Given the description of an element on the screen output the (x, y) to click on. 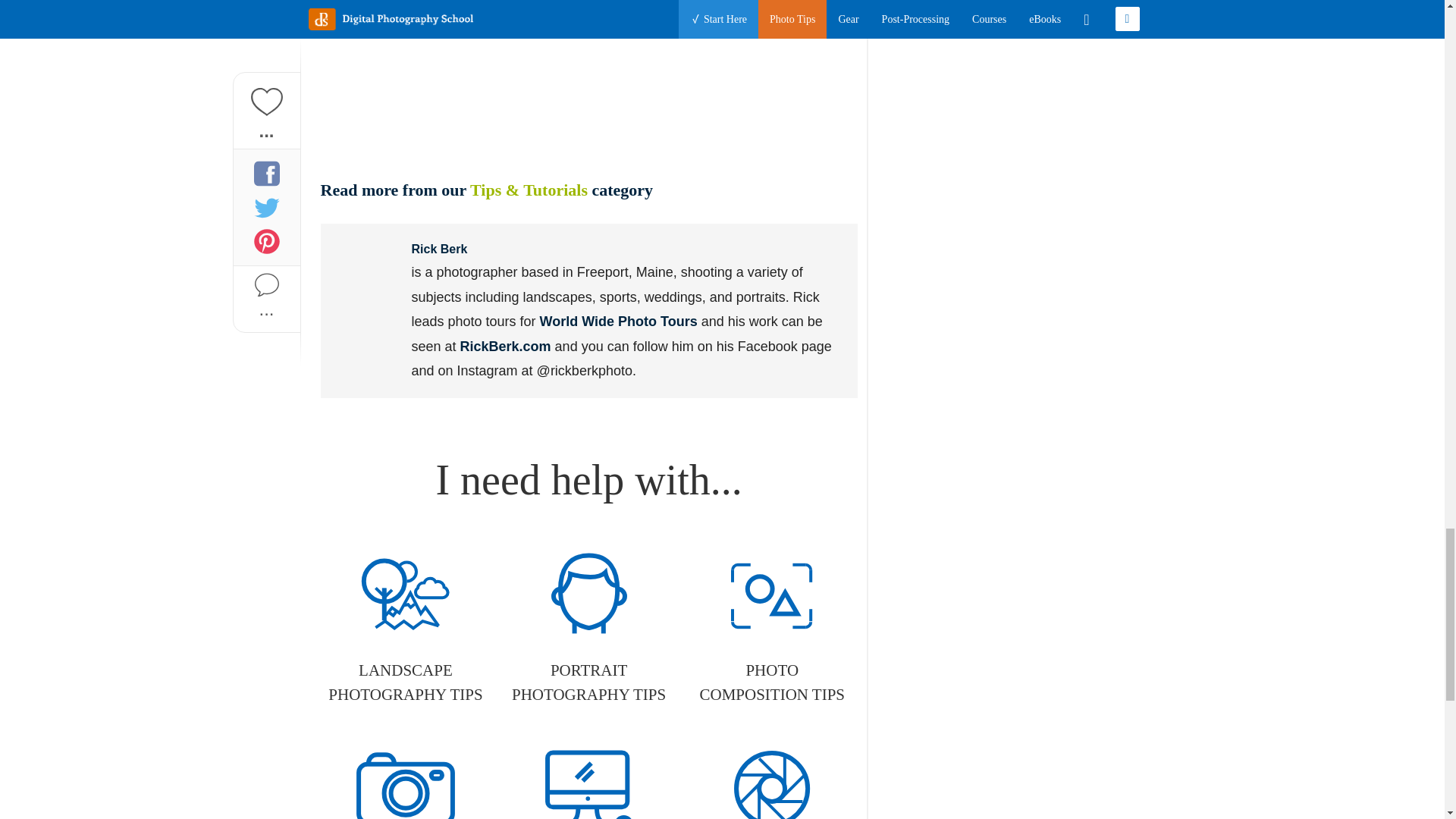
Beginner Photography Tips (405, 778)
Photo Composition Tips (771, 628)
Portrait Photography Tips (588, 628)
Rick Berk (438, 248)
Landscape Photography Tips (405, 628)
Photo Post Processing Tips (588, 778)
Get Started with Cameras and Gear (771, 778)
Rick Berk (365, 269)
